Given the description of an element on the screen output the (x, y) to click on. 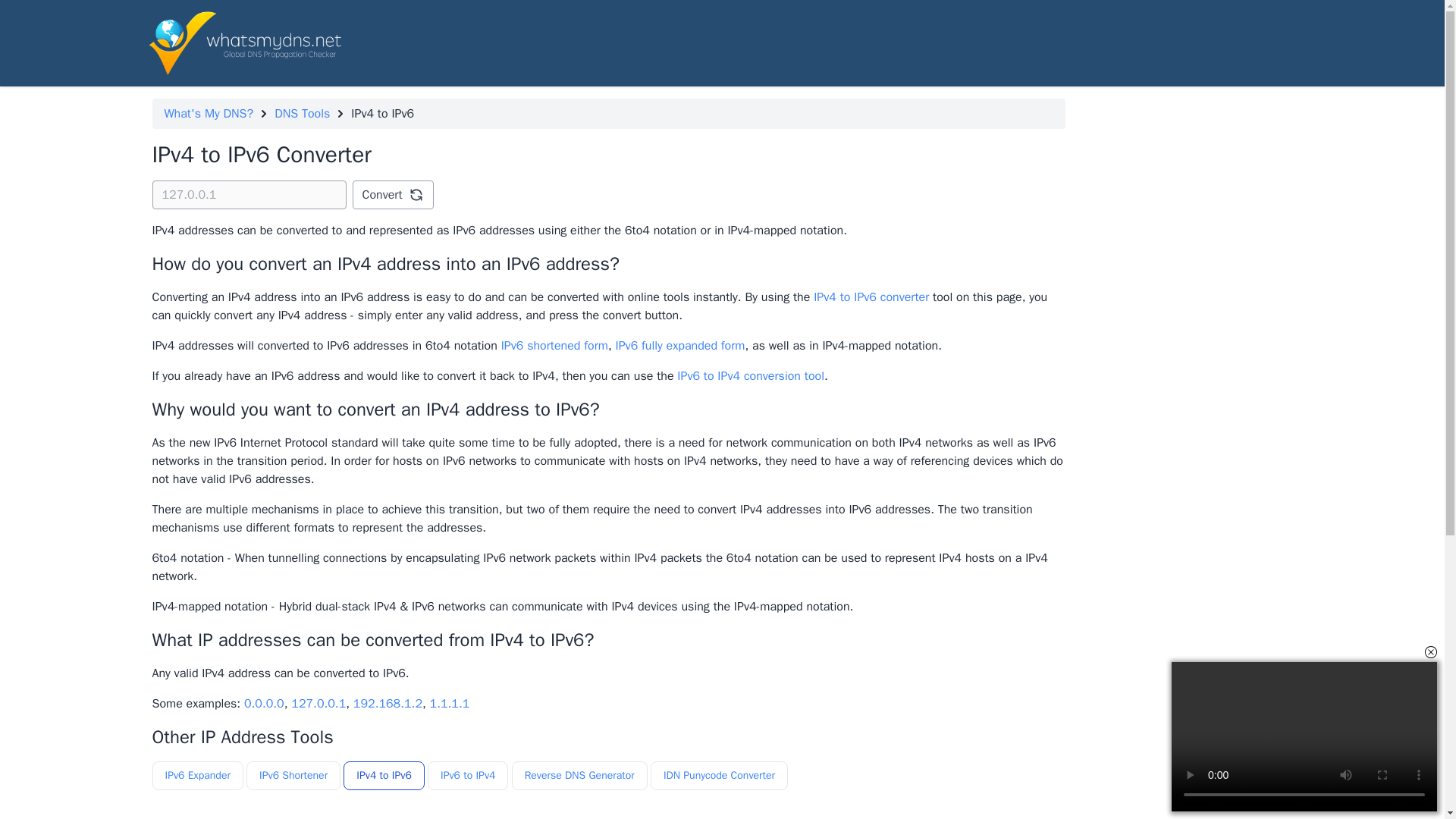
IPv6 shortened form (554, 345)
IPv6 fully expanded form (679, 345)
192.168.1.2 (387, 703)
Convert (392, 194)
IPv6 Expander (197, 775)
What's My DNS? (208, 113)
IPv4 to IPv6 (383, 775)
IPv4 to IPv6 converter (870, 296)
127.0.0.1 (318, 703)
Reverse DNS Generator (579, 775)
1.1.1.1 (449, 703)
IPv6 Shortener (293, 775)
IPv6 to IPv4 conversion tool (750, 376)
DNS Tools (302, 113)
0.0.0.0 (263, 703)
